Given the description of an element on the screen output the (x, y) to click on. 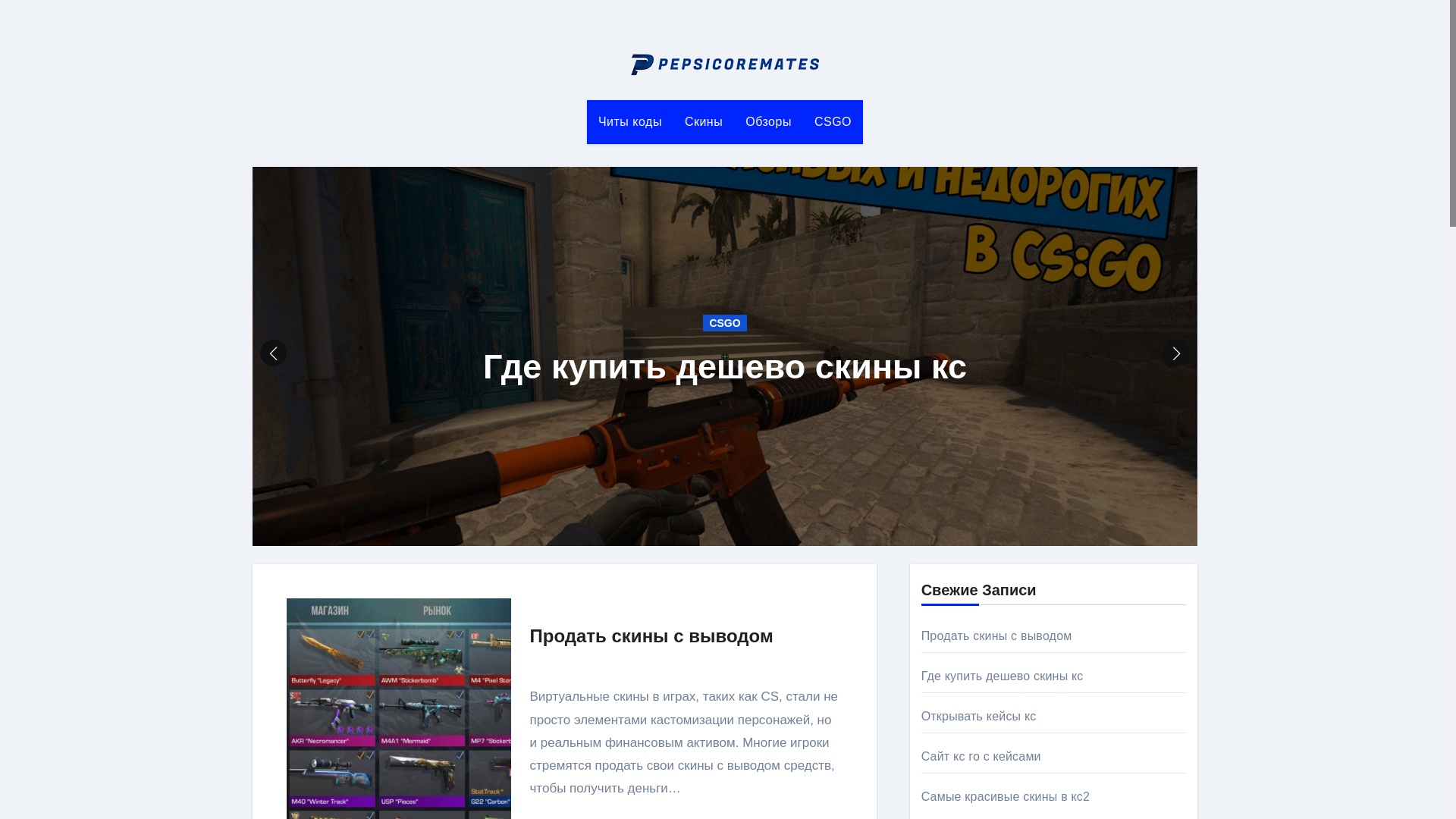
CSGO (833, 121)
CSGO (833, 121)
CSGO (724, 322)
